Given the description of an element on the screen output the (x, y) to click on. 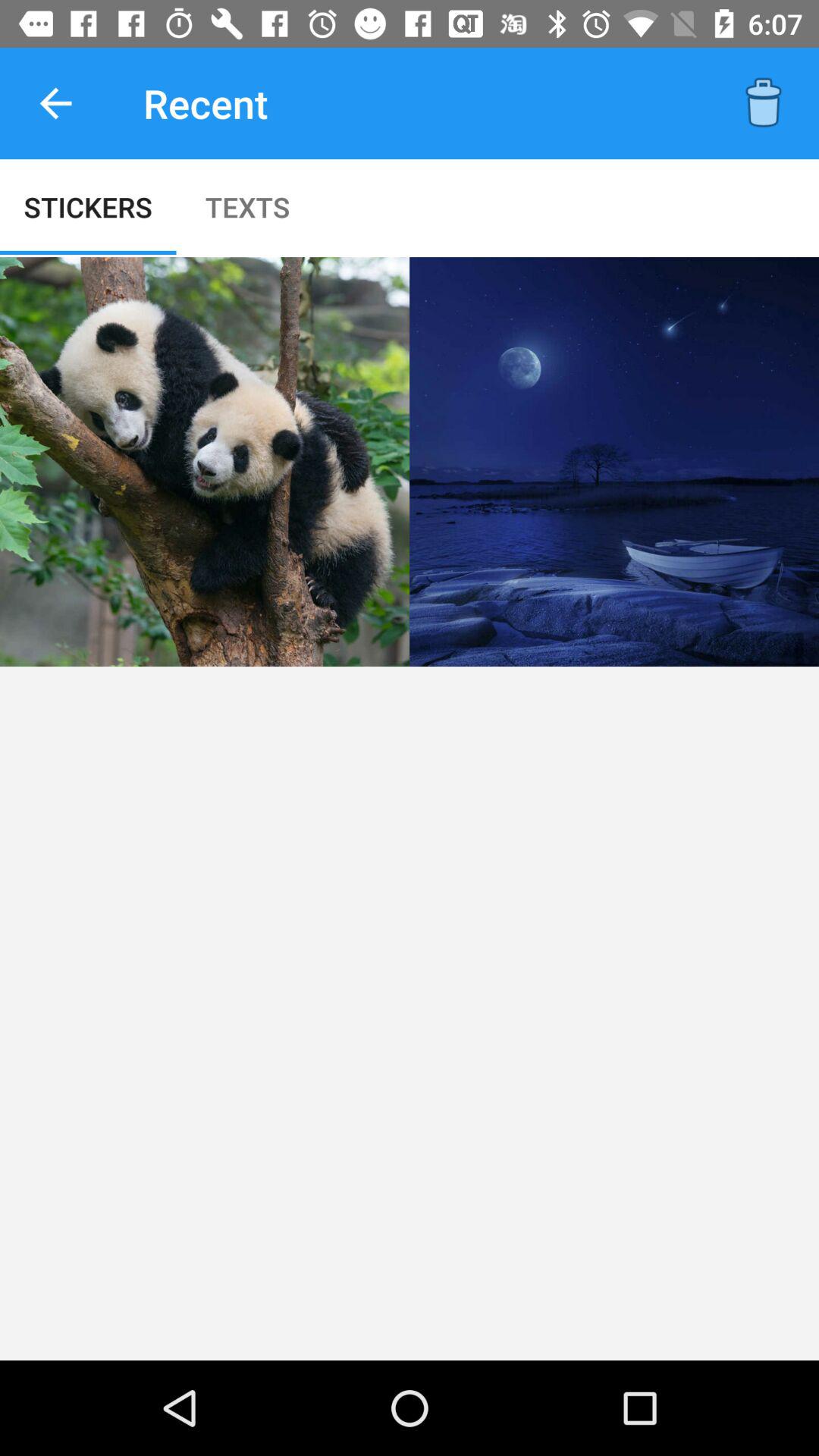
click the icon next to the recent (763, 103)
